Given the description of an element on the screen output the (x, y) to click on. 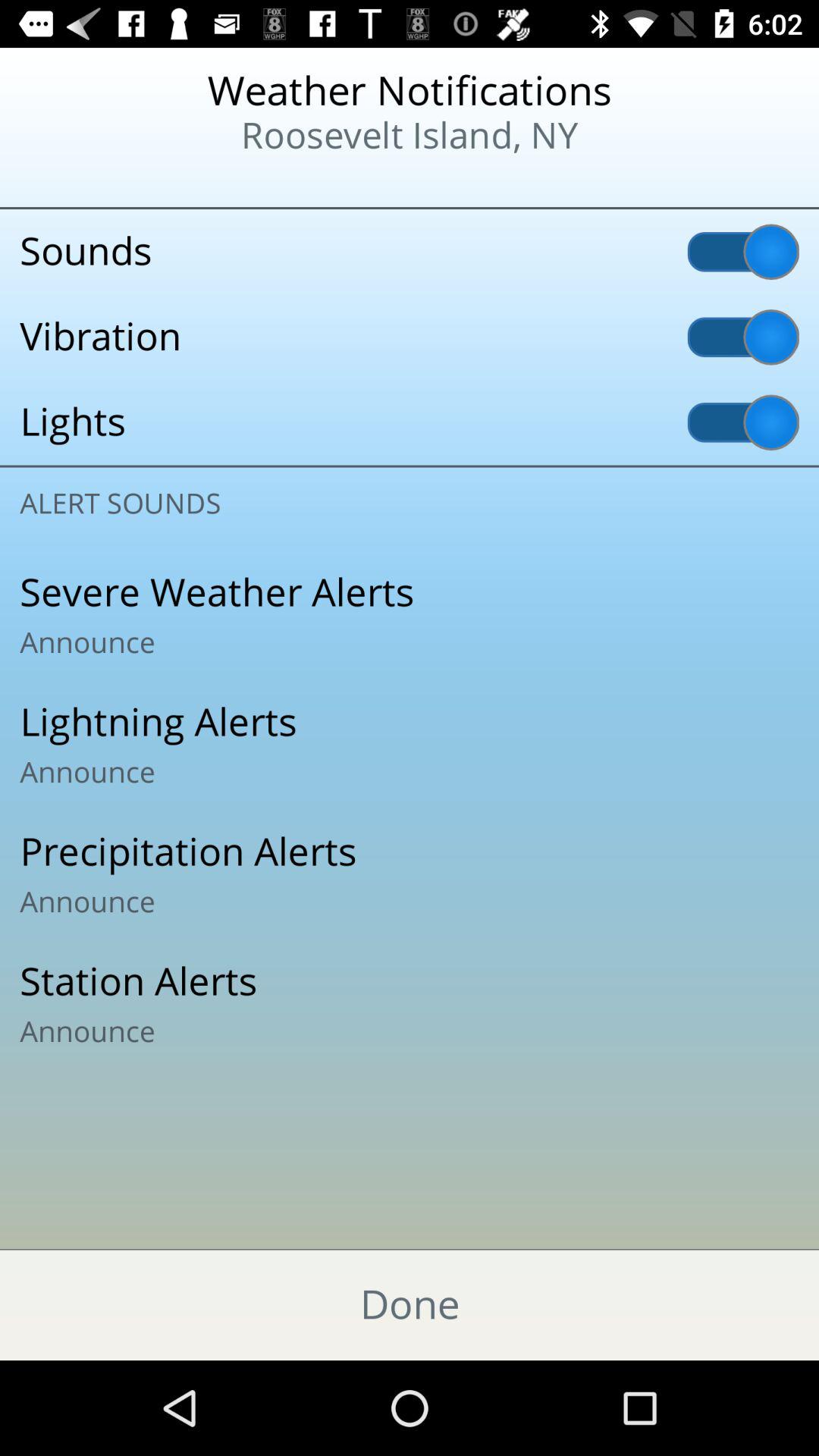
open the item below vibration item (409, 422)
